Given the description of an element on the screen output the (x, y) to click on. 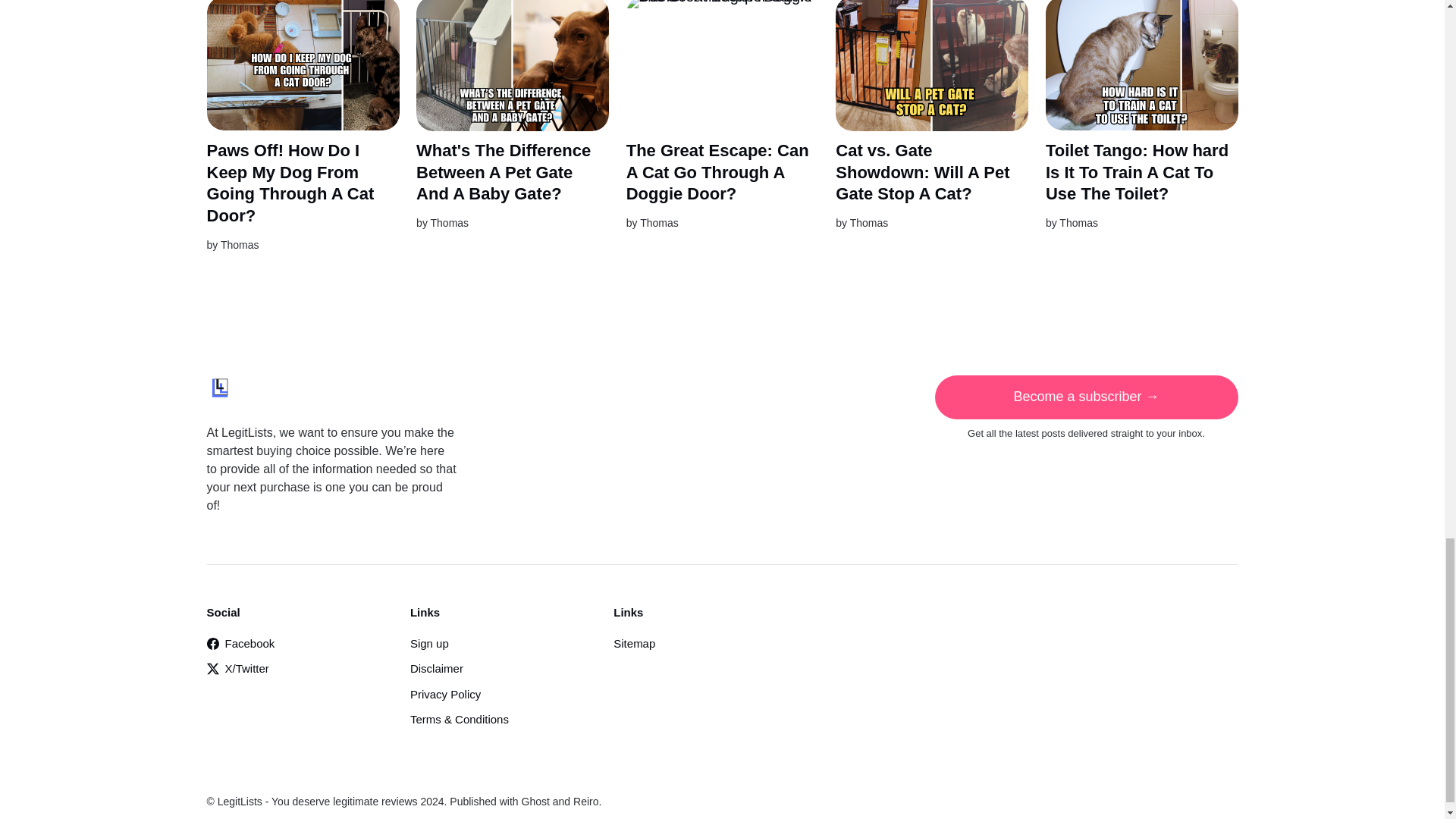
Thomas (1078, 223)
Cat vs. Gate Showdown: Will A Pet Gate Stop A Cat? (922, 171)
Thomas (659, 223)
Sign up (429, 643)
Facebook (240, 643)
Thomas (240, 244)
The Great Escape: Can A Cat Go Through A Doggie Door? (717, 171)
What's The Difference Between A Pet Gate And A Baby Gate? (503, 171)
Thomas (869, 223)
Thomas (449, 223)
